Given the description of an element on the screen output the (x, y) to click on. 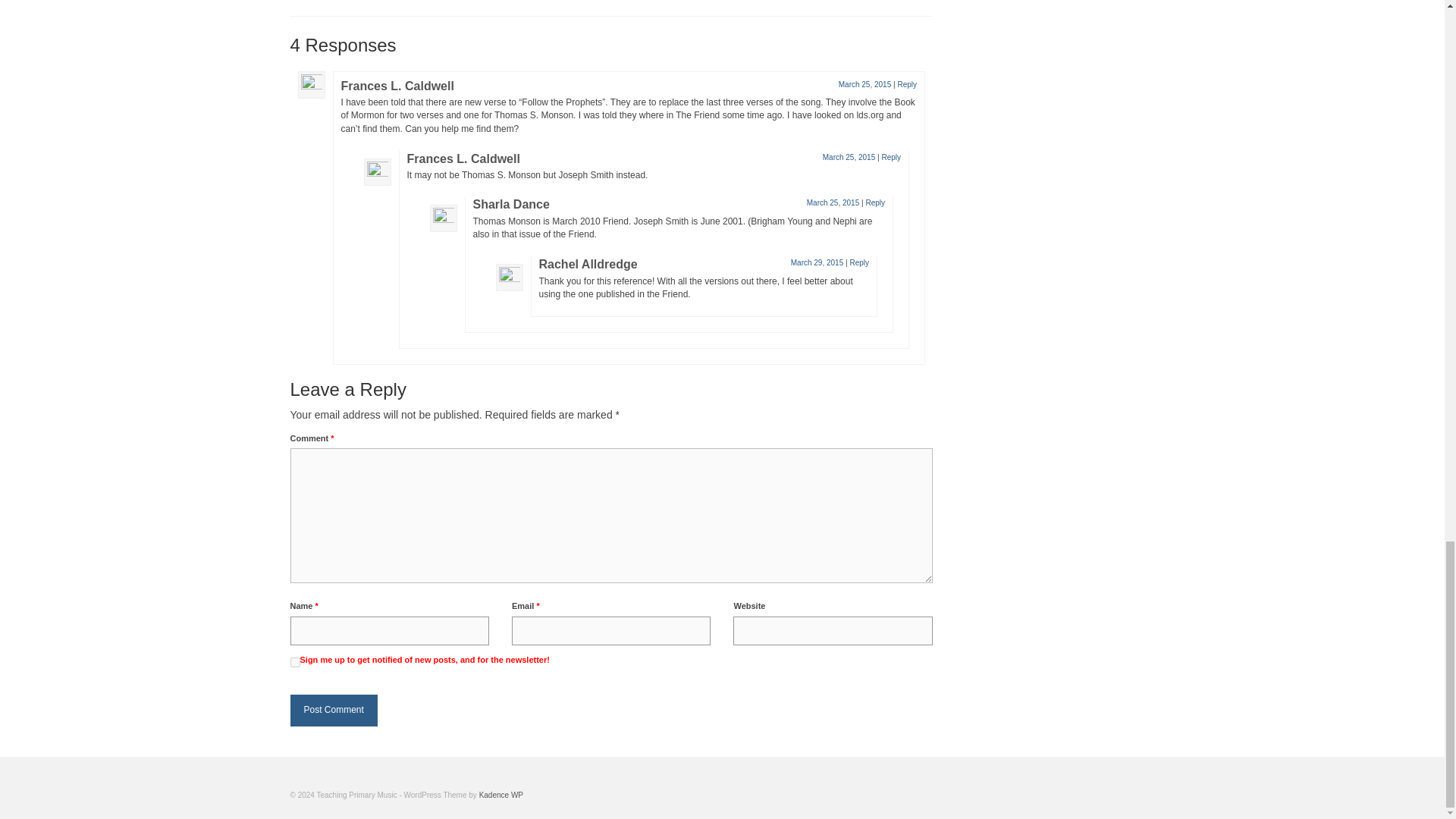
March 25, 2015 (849, 157)
Post Comment (333, 709)
March 25, 2015 (833, 203)
Post Comment (333, 709)
Kadence WP (500, 795)
Reply (890, 157)
Reply (858, 262)
March 29, 2015 (817, 262)
Reply (874, 203)
1 (294, 662)
